Given the description of an element on the screen output the (x, y) to click on. 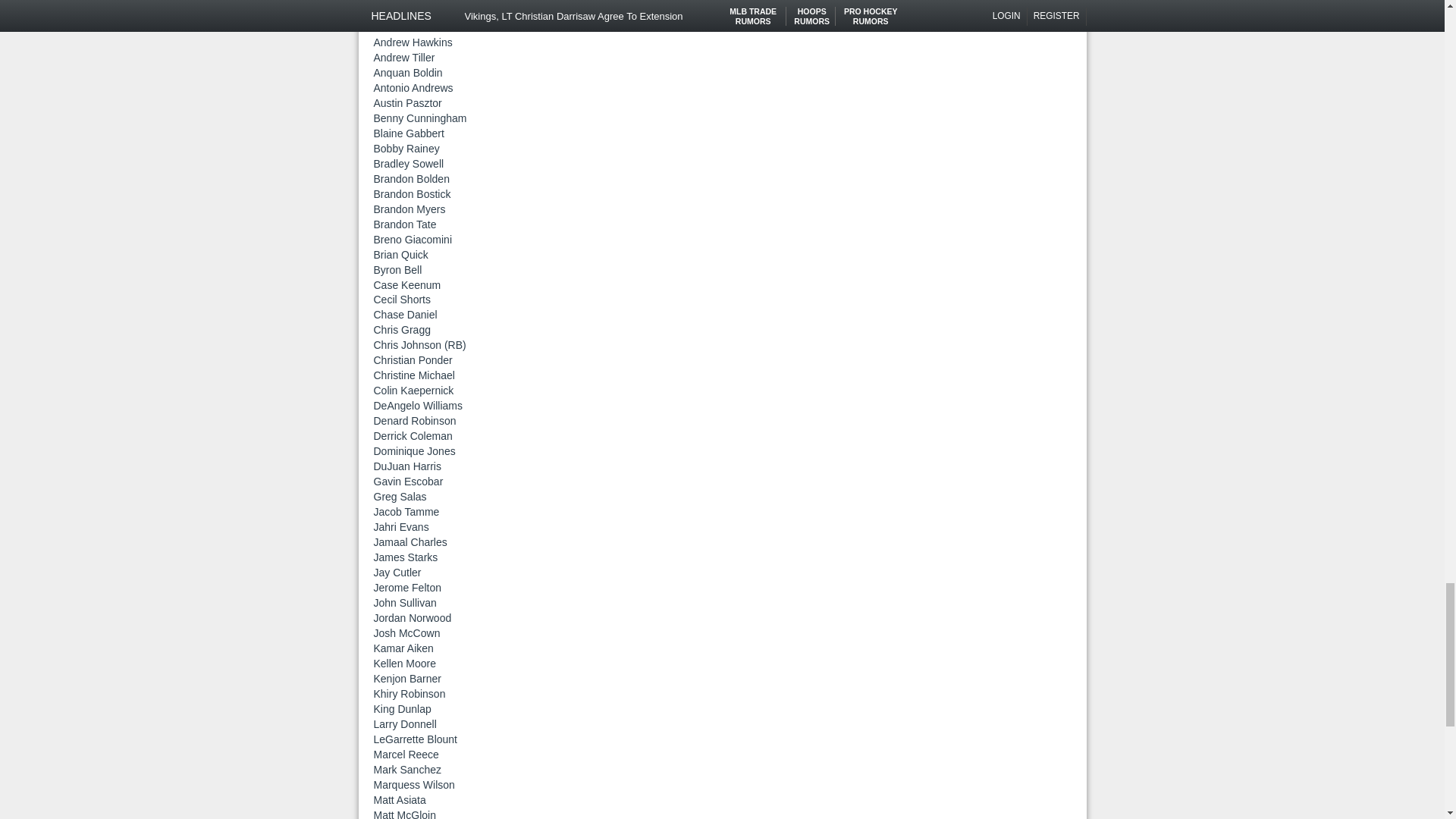
View all posts in Bobby Rainey (405, 148)
View all posts in Austin Pasztor (406, 102)
View all posts in Brandon Bostick (410, 193)
View all posts in Brandon Bolden (410, 178)
View all posts in Adrian Peterson (410, 11)
View all posts in Andrew Hawkins (411, 42)
View all posts in Andre Holmes (406, 27)
View all posts in Andrew Tiller (402, 57)
View all posts in Antonio Andrews (412, 87)
View all posts in Aaron Dobson (406, 1)
View all posts in Benny Cunningham (418, 118)
View all posts in Anquan Boldin (407, 72)
View all posts in Blaine Gabbert (408, 133)
View all posts in Bradley Sowell (408, 163)
